Given the description of an element on the screen output the (x, y) to click on. 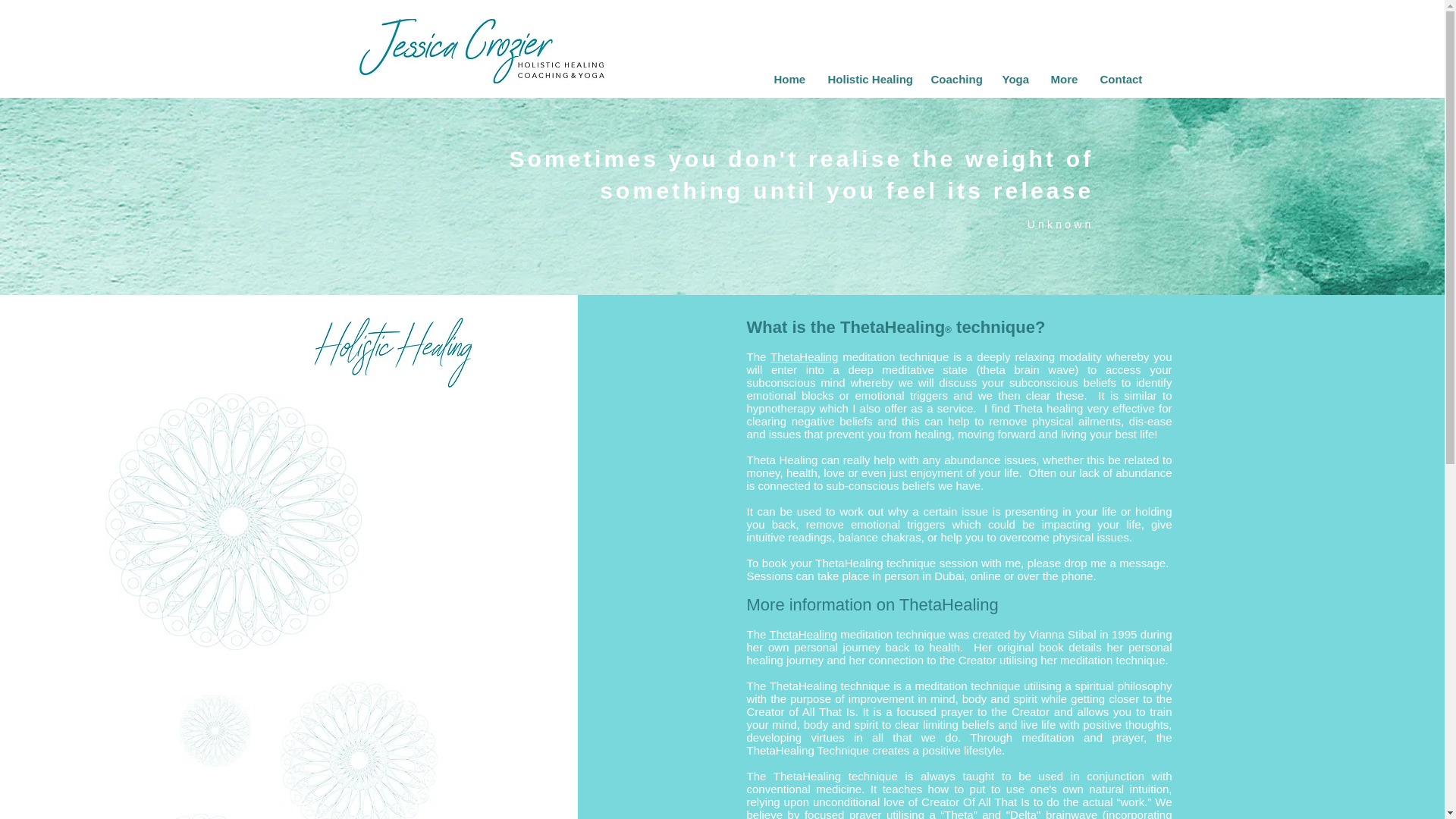
Yoga (1014, 79)
More (1063, 79)
ThetaHealing (803, 634)
Holistic Healing.jpg (392, 352)
Contact (1120, 79)
Coaching (954, 79)
ThetaHealing (804, 356)
Home (789, 79)
